Given the description of an element on the screen output the (x, y) to click on. 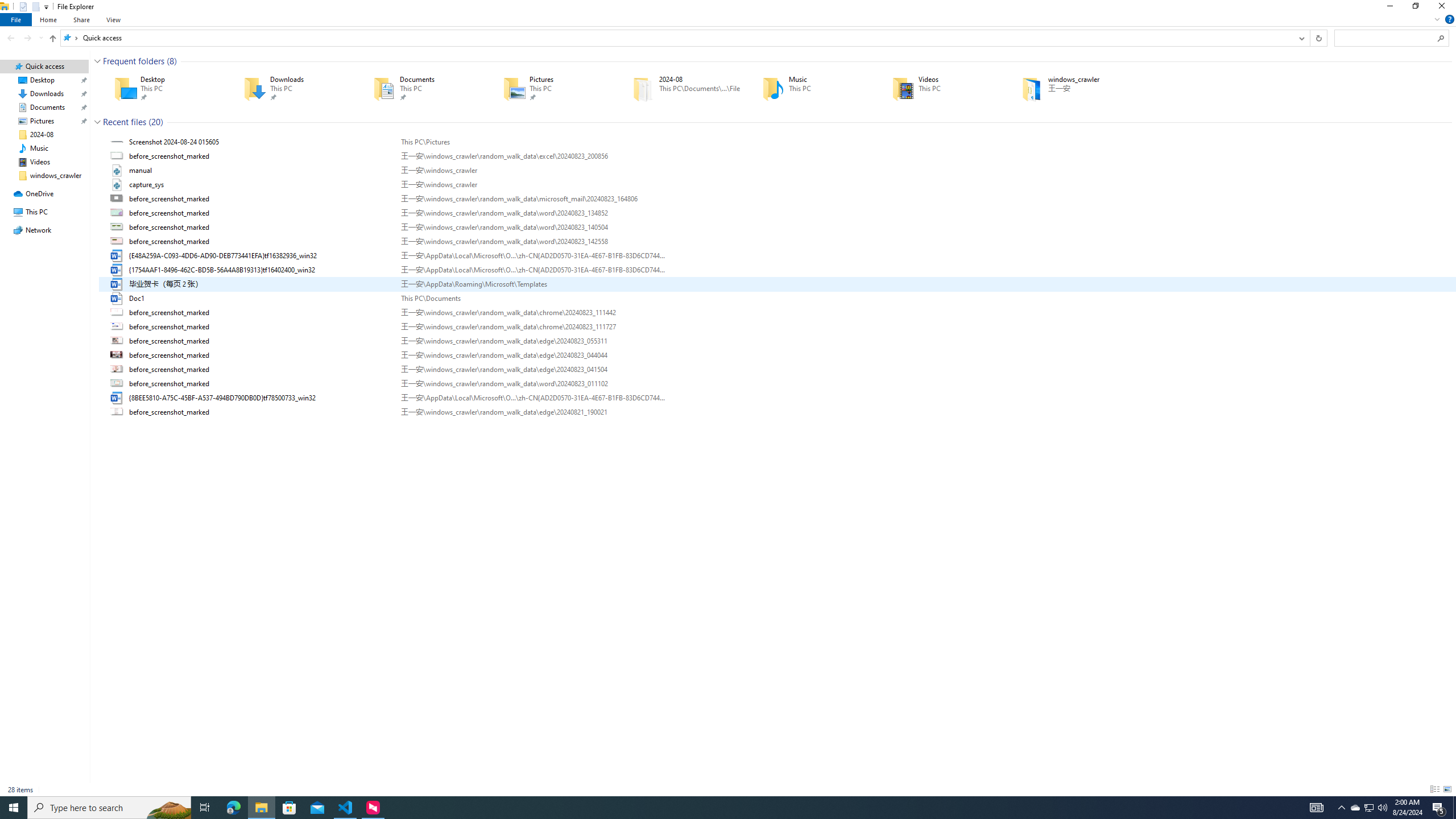
Search (1441, 37)
Back (Alt + Left Arrow) (10, 37)
Navigation buttons (24, 37)
manual (777, 169)
Forward (Alt + Right Arrow) (27, 37)
Quick Access Toolbar (29, 6)
Up band toolbar (52, 39)
capture_sys (777, 184)
Quick access (101, 37)
System (6, 6)
Screenshot 2024-08-24 015605 (777, 142)
Class: UIImage (117, 411)
before_screenshot_marked (777, 411)
Pinned (1088, 96)
